Given the description of an element on the screen output the (x, y) to click on. 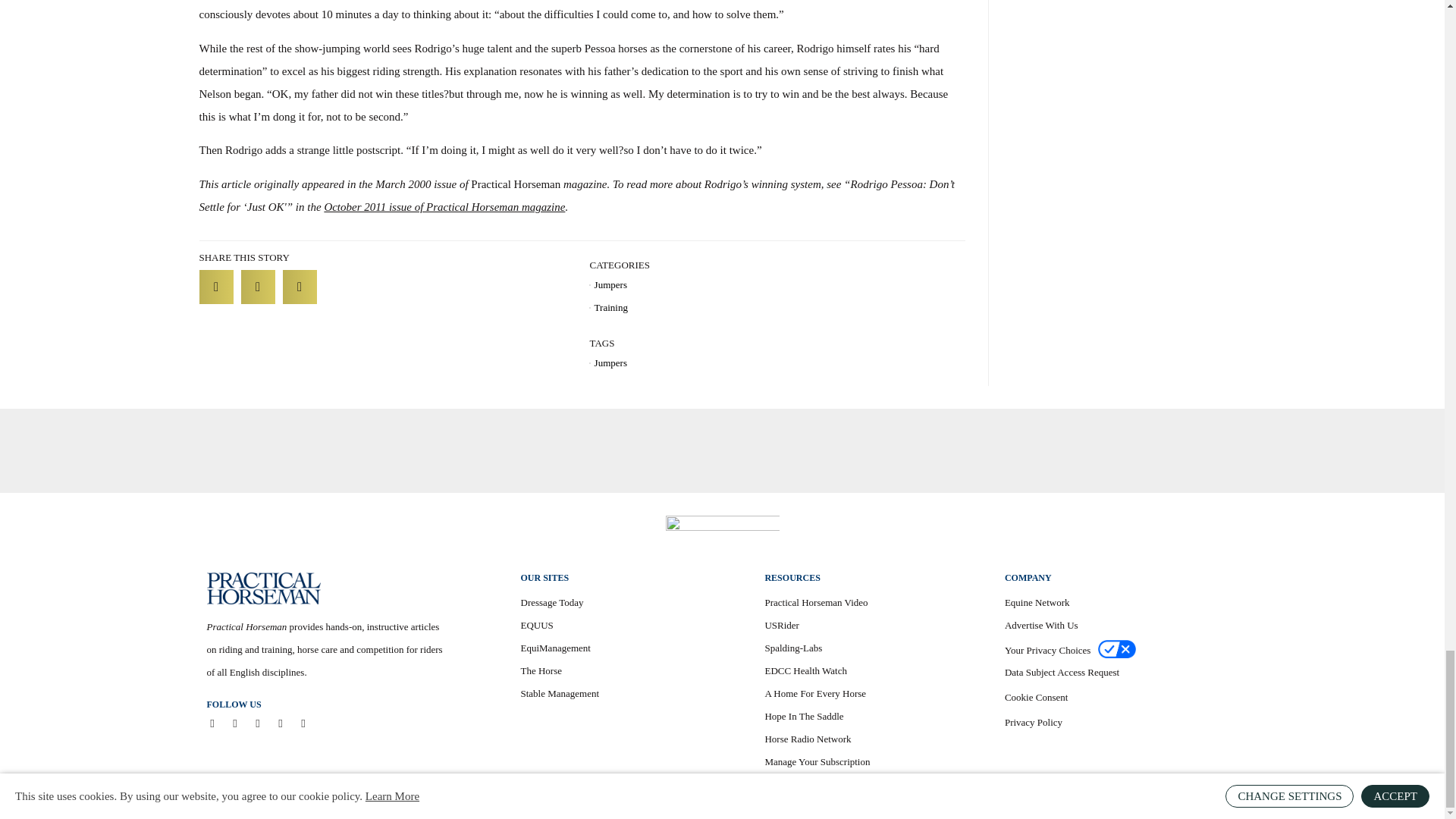
3rd party ad content (721, 450)
